Given the description of an element on the screen output the (x, y) to click on. 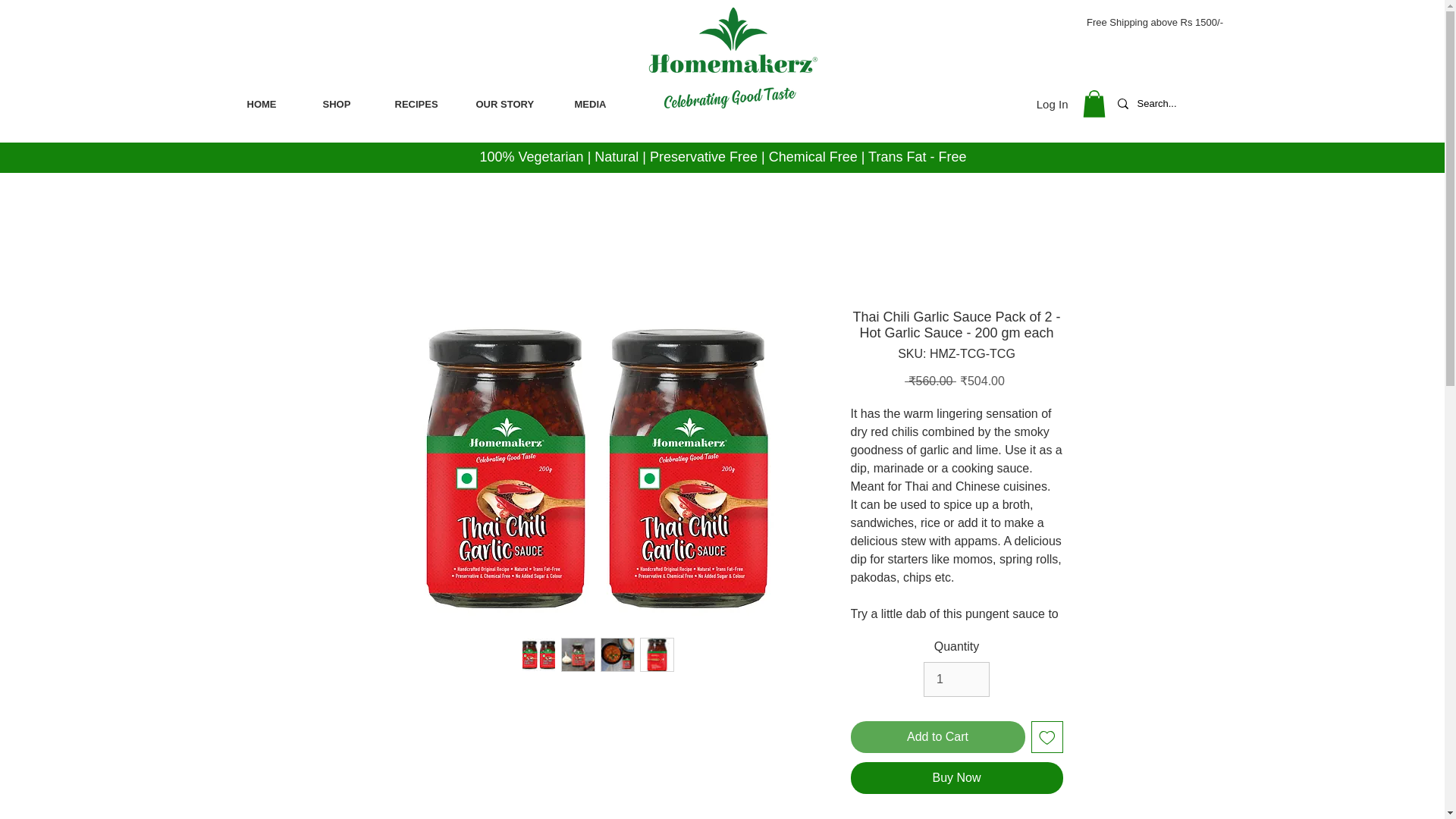
RECIPES (424, 104)
OUR STORY (513, 104)
HOME (272, 104)
Buy Now (956, 777)
Homemaker Logo.png (732, 60)
Log In (1052, 104)
1 (956, 678)
Add to Cart (937, 736)
MEDIA (600, 104)
SHOP (346, 104)
